Given the description of an element on the screen output the (x, y) to click on. 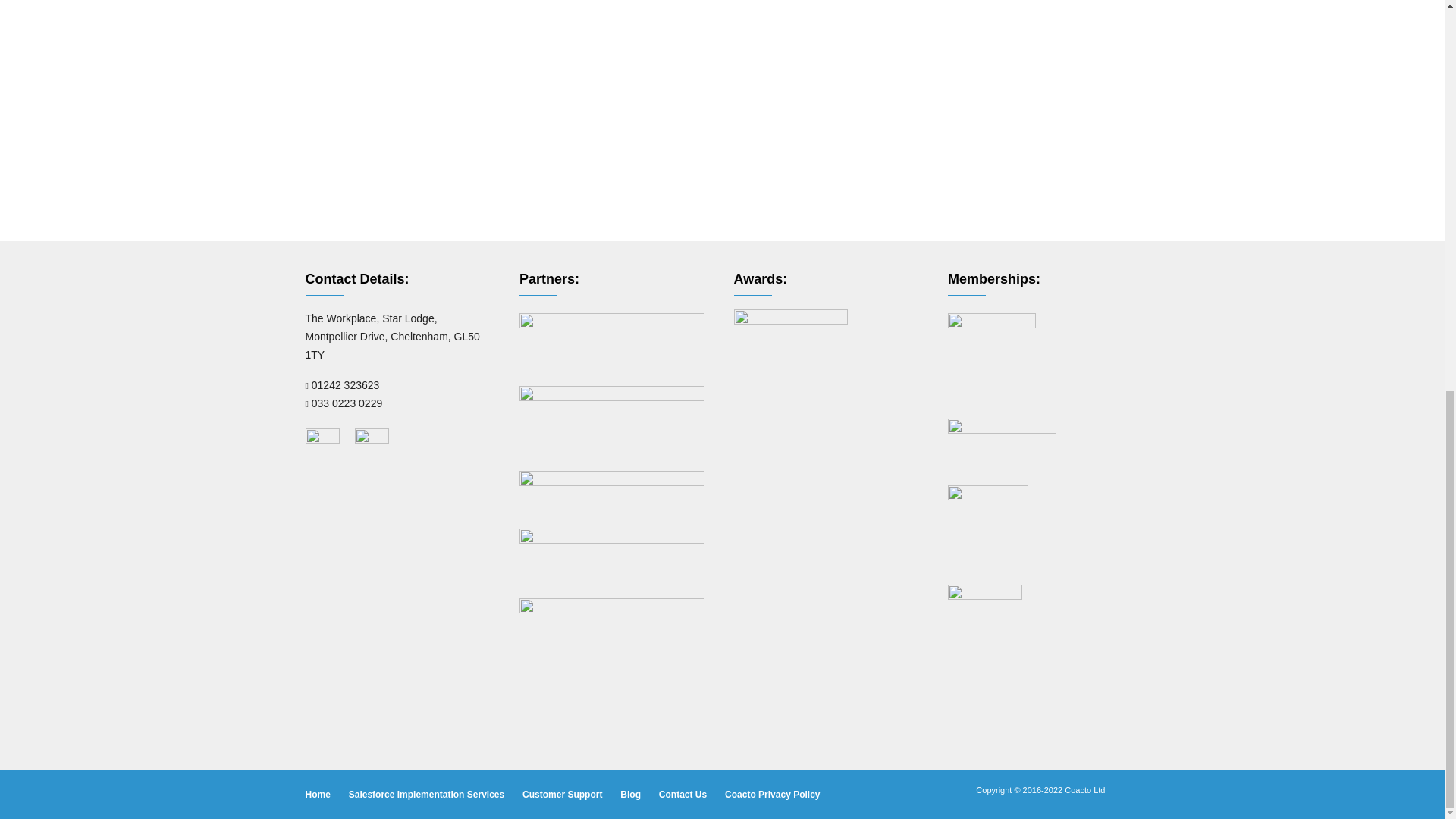
Awards: (790, 366)
